Given the description of an element on the screen output the (x, y) to click on. 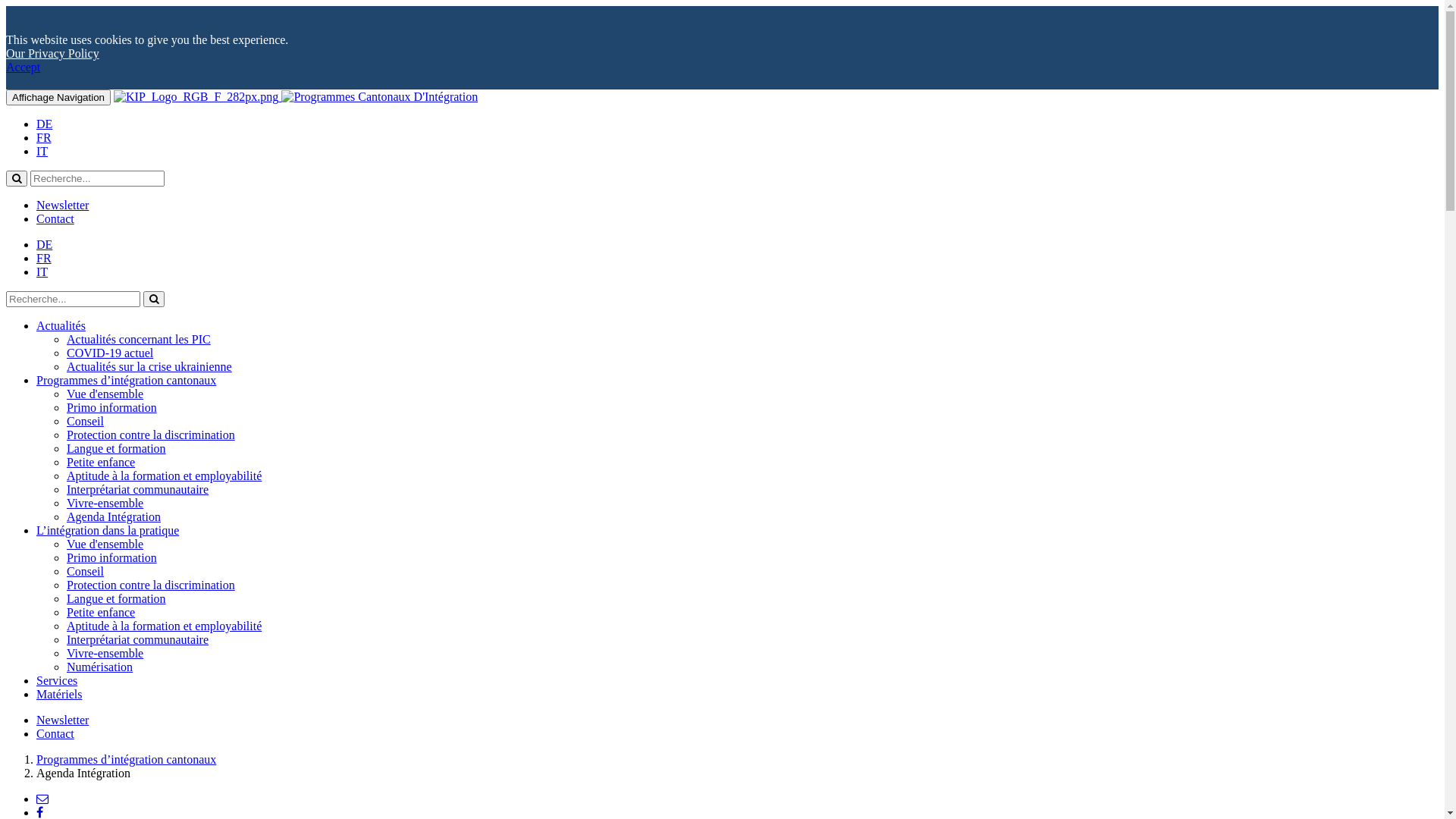
Primo information Element type: text (111, 557)
Vue d'ensemble Element type: text (104, 393)
Accept Element type: text (23, 66)
Affichage Navigation Element type: text (58, 97)
Services Element type: text (56, 680)
Contact Element type: text (55, 218)
Newsletter Element type: text (62, 204)
Petite enfance Element type: text (100, 461)
Vivre-ensemble Element type: text (104, 652)
KIP_Logo_RGB_F_282px.png Element type: hover (195, 96)
FR Element type: text (43, 257)
COVID-19 actuel Element type: text (109, 352)
FR Element type: text (43, 137)
DE Element type: text (44, 244)
Langue et formation Element type: text (116, 448)
Petite enfance Element type: text (100, 611)
Vue d'ensemble Element type: text (104, 543)
Conseil Element type: text (84, 420)
Newsletter Element type: text (62, 719)
Our Privacy Policy Element type: text (52, 53)
Protection contre la discrimination Element type: text (150, 434)
Contact Element type: text (55, 733)
Primo information Element type: text (111, 407)
Langue et formation Element type: text (116, 598)
IT Element type: text (41, 150)
Protection contre la discrimination Element type: text (150, 584)
DE Element type: text (44, 123)
Vivre-ensemble Element type: text (104, 502)
Conseil Element type: text (84, 570)
IT Element type: text (41, 271)
